Given the description of an element on the screen output the (x, y) to click on. 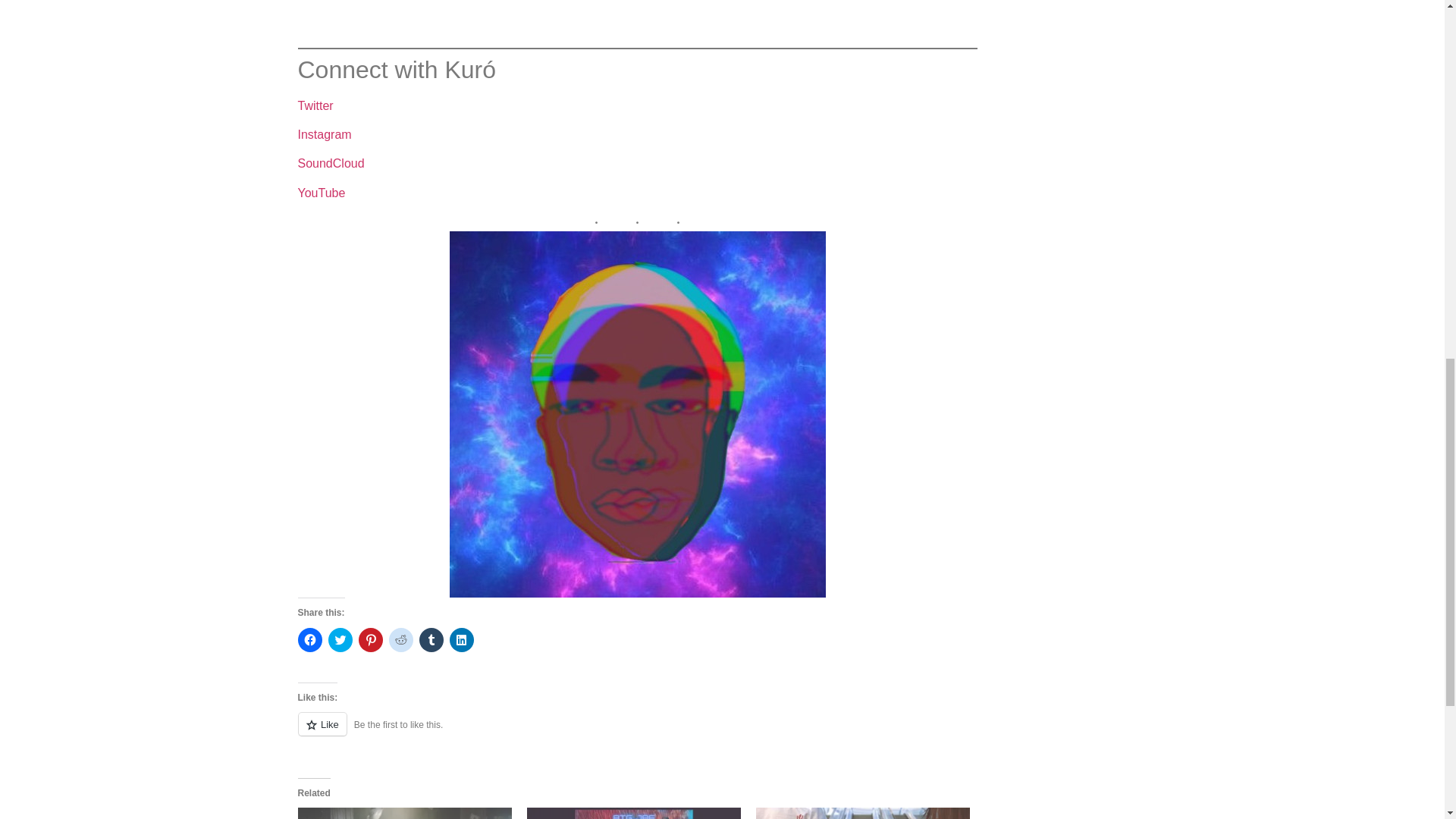
Click to share on Tumblr (430, 639)
SoundCloud (330, 163)
Instagram (323, 133)
Click to share on LinkedIn (460, 639)
Click to share on Reddit (400, 639)
Twitter (315, 105)
Click to share on Facebook (309, 639)
Like or Reblog (636, 732)
YouTube (321, 192)
Click to share on Pinterest (369, 639)
Click to share on Twitter (339, 639)
